Given the description of an element on the screen output the (x, y) to click on. 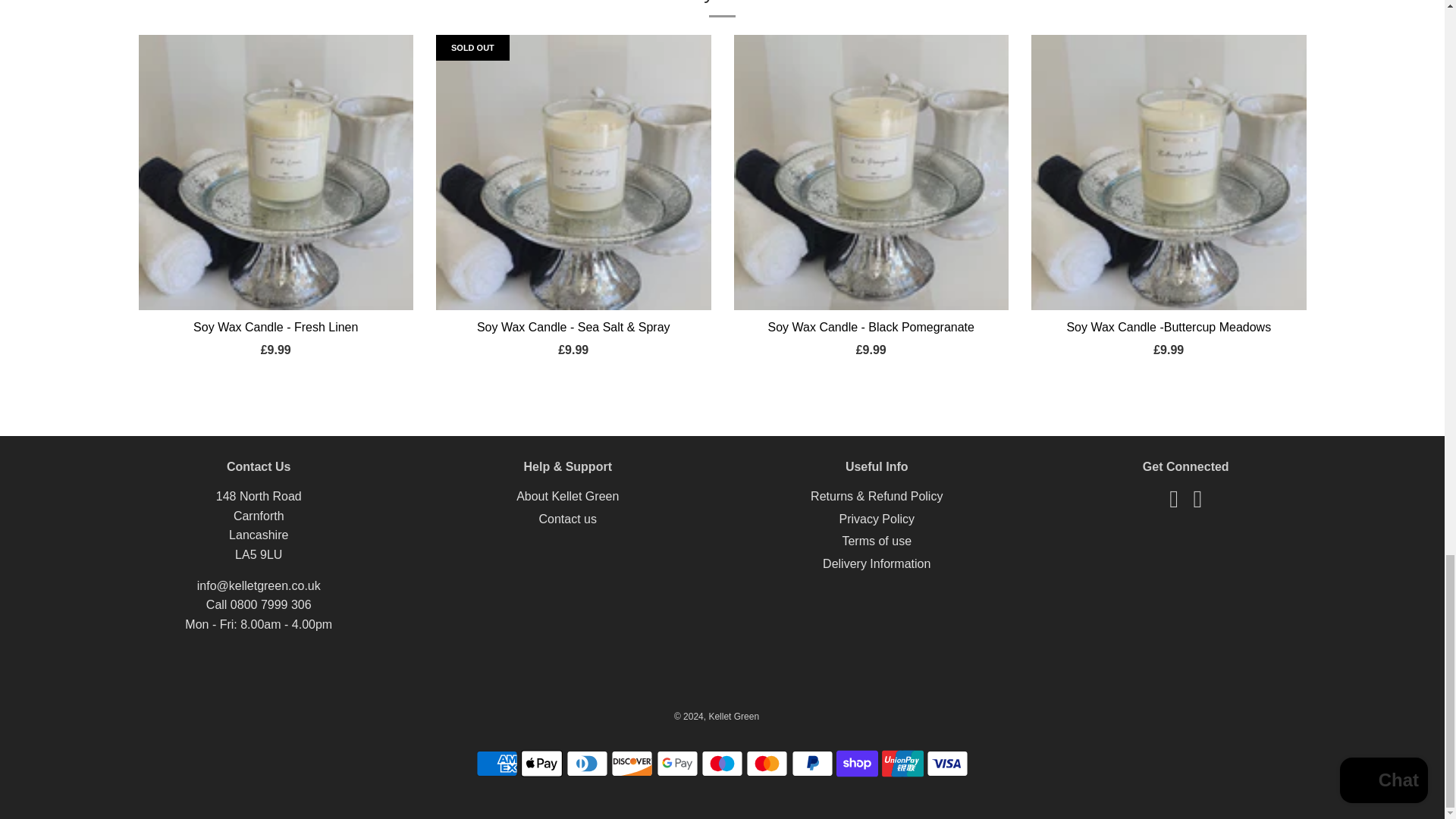
Google Pay (677, 763)
Soy Wax Candle - Fresh Linen (275, 327)
Shop Pay (856, 763)
Terms of use (876, 540)
Maestro (721, 763)
Soy Wax Candle - Fresh Linen (275, 172)
Privacy Policy (876, 518)
Soy Wax Candle - Black Pomegranate (871, 172)
Apple Pay (541, 763)
Delivery Information (876, 563)
Contact us (566, 518)
PayPal (812, 763)
Soy Wax Candle -Buttercup Meadows (1168, 172)
Union Pay (902, 763)
Mastercard (766, 763)
